Given the description of an element on the screen output the (x, y) to click on. 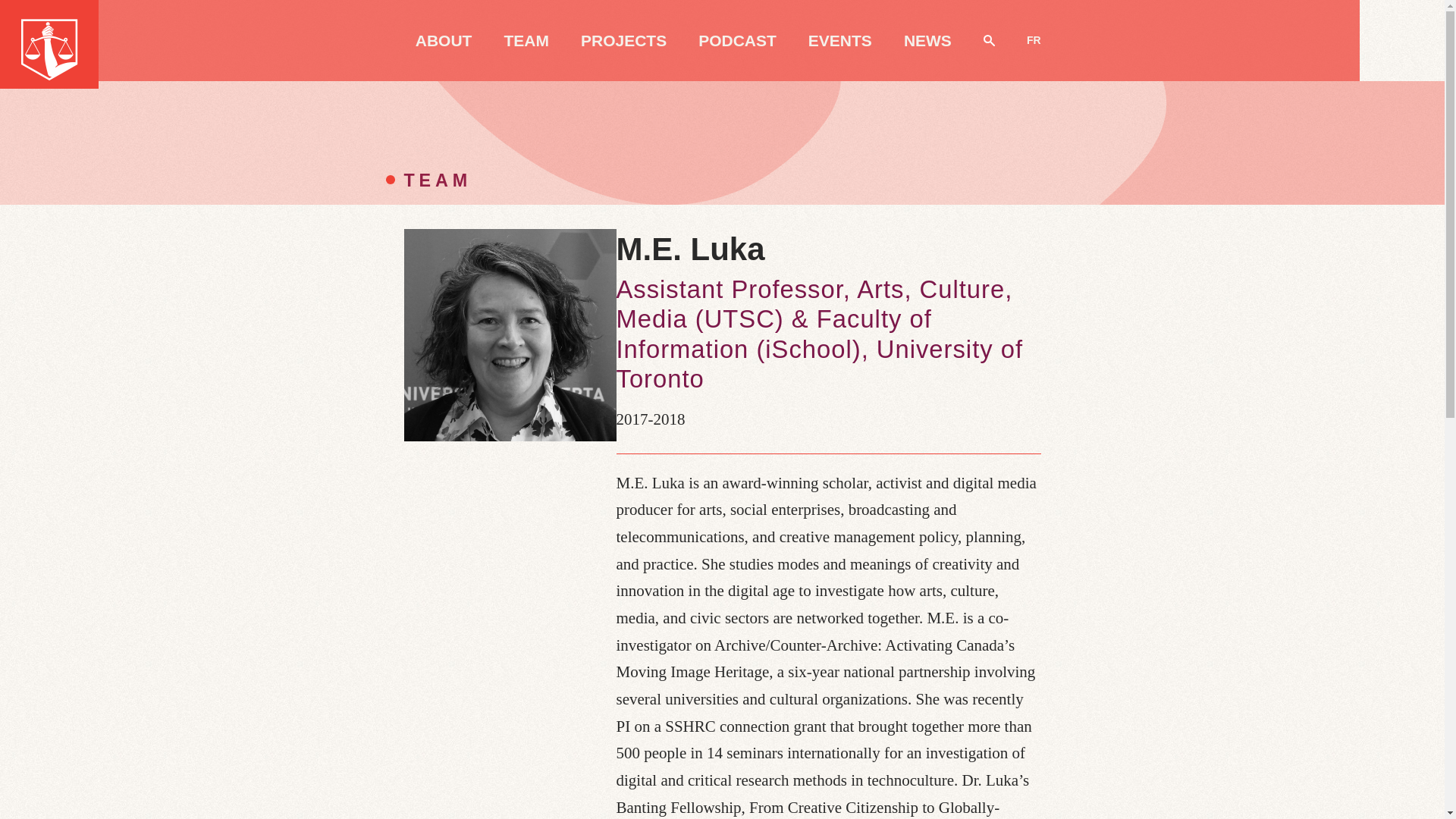
TEAM (525, 40)
PODCAST (737, 40)
ABOUT (442, 40)
PROJECTS (623, 40)
FR (1033, 40)
FR (1033, 40)
EVENTS (840, 40)
SEARCH (989, 40)
Just Powers (49, 44)
NEWS (928, 40)
